Given the description of an element on the screen output the (x, y) to click on. 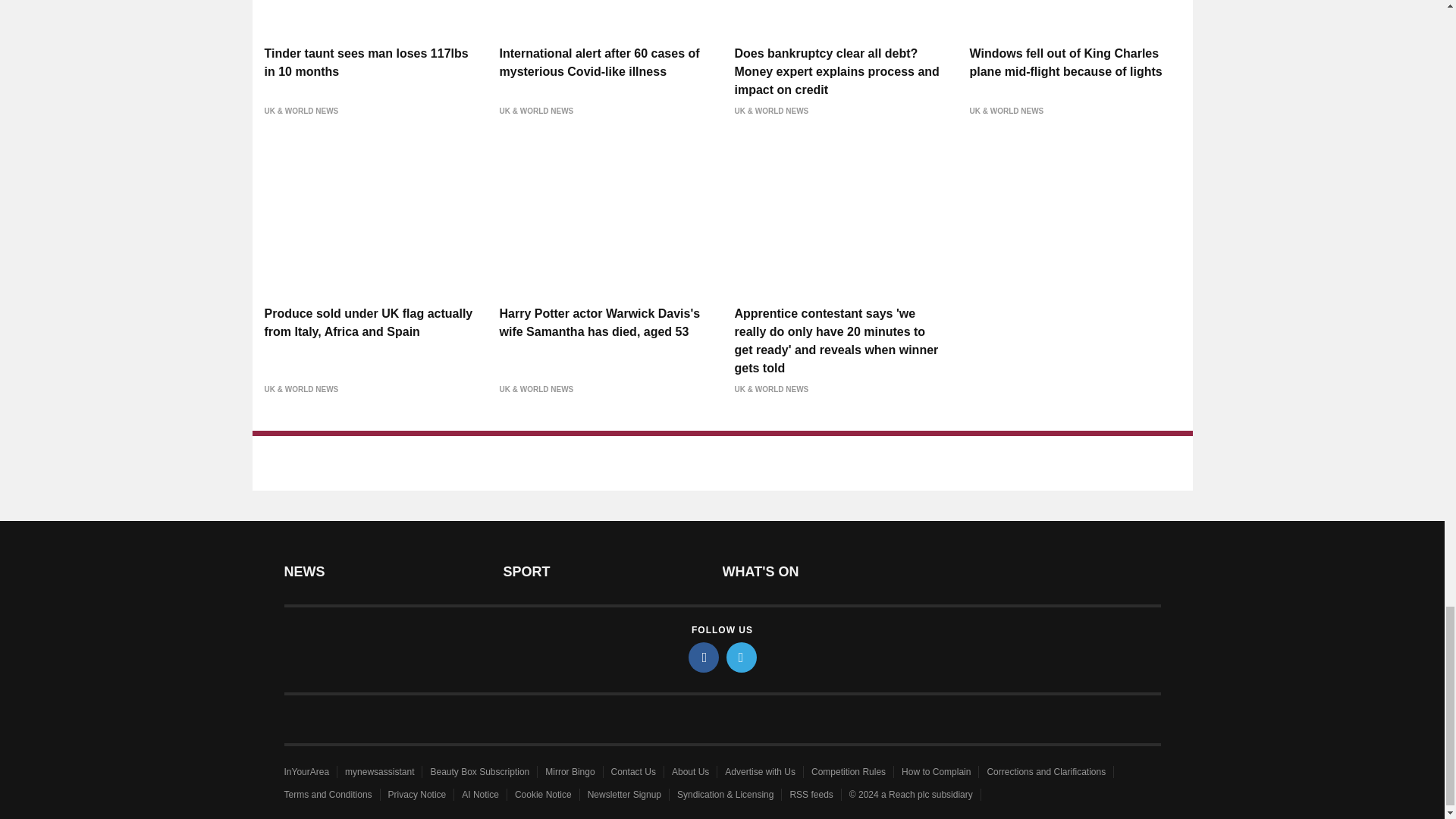
facebook (703, 657)
twitter (741, 657)
